Given the description of an element on the screen output the (x, y) to click on. 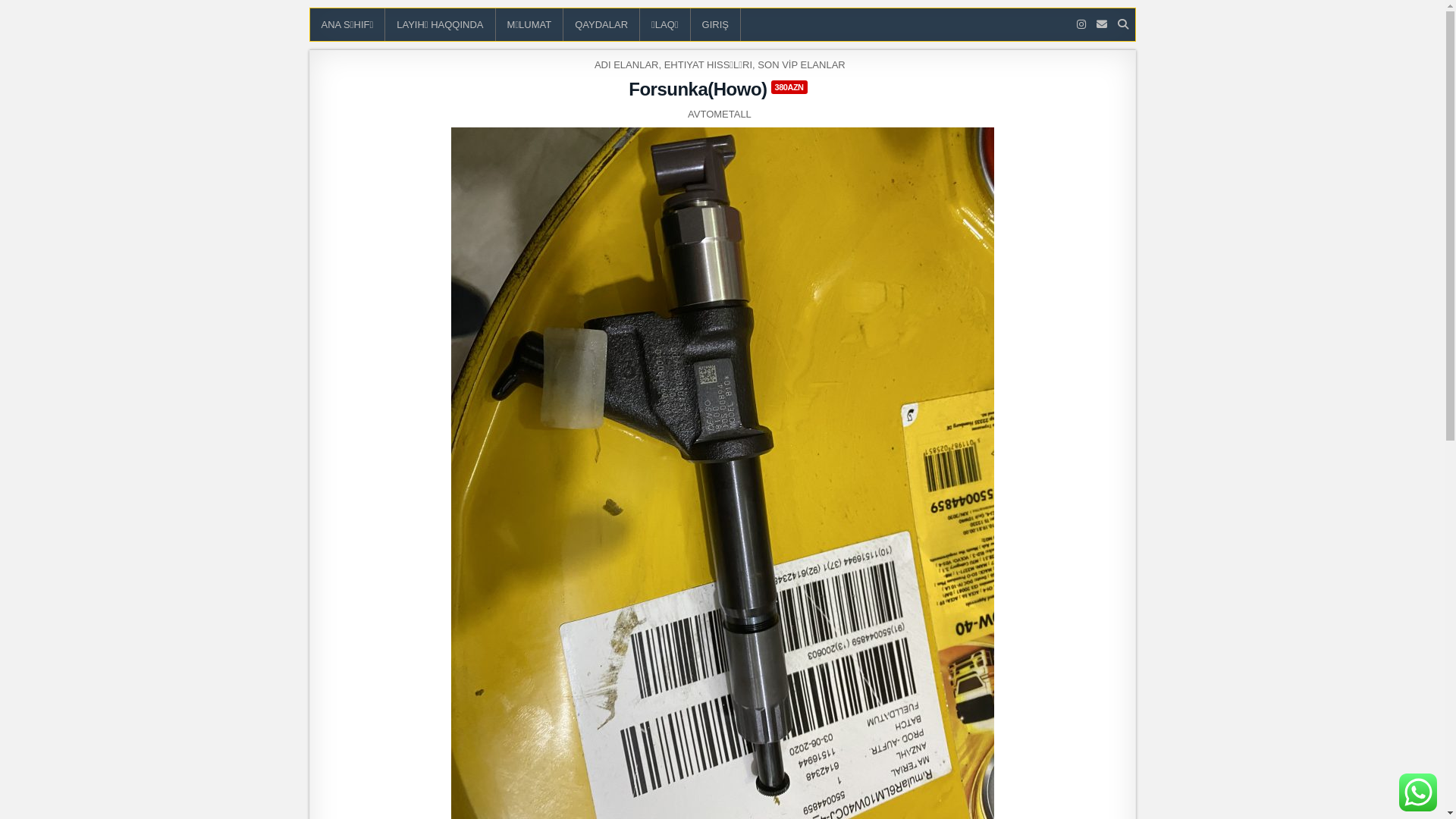
AVTOMETALL Element type: text (719, 113)
QAYDALAR Element type: text (601, 24)
Axtar Element type: hover (1122, 24)
Forsunka(Howo)380AZN  Element type: text (721, 88)
ADI ELANLAR Element type: text (626, 64)
Email Us Element type: hover (1101, 24)
Instagram Element type: hover (1080, 24)
